Given the description of an element on the screen output the (x, y) to click on. 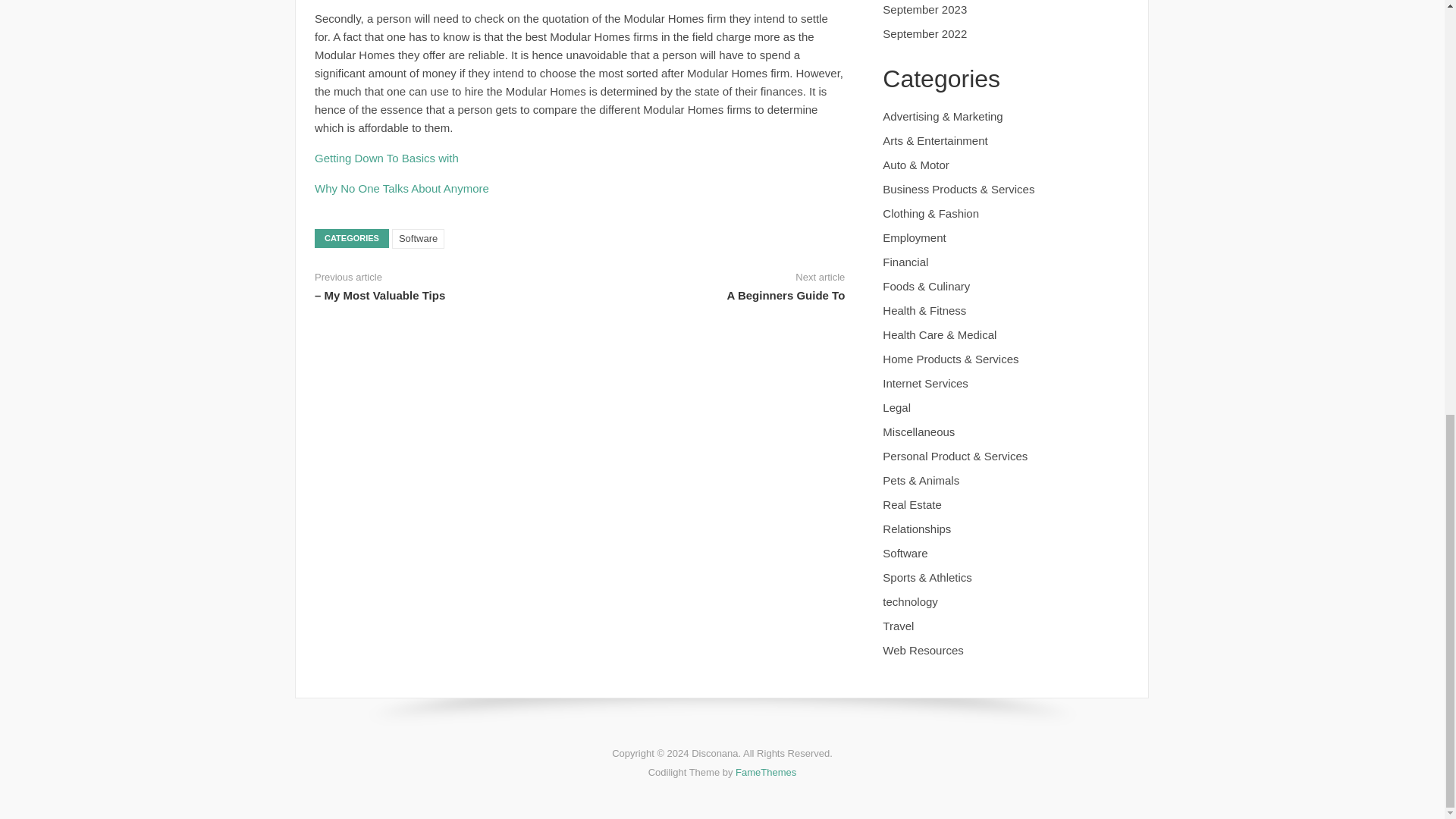
A Beginners Guide To (785, 295)
Software (417, 238)
September 2022 (924, 33)
September 2023 (924, 9)
Getting Down To Basics with (386, 157)
Employment (913, 237)
Financial (905, 261)
Why No One Talks About Anymore (401, 187)
